Given the description of an element on the screen output the (x, y) to click on. 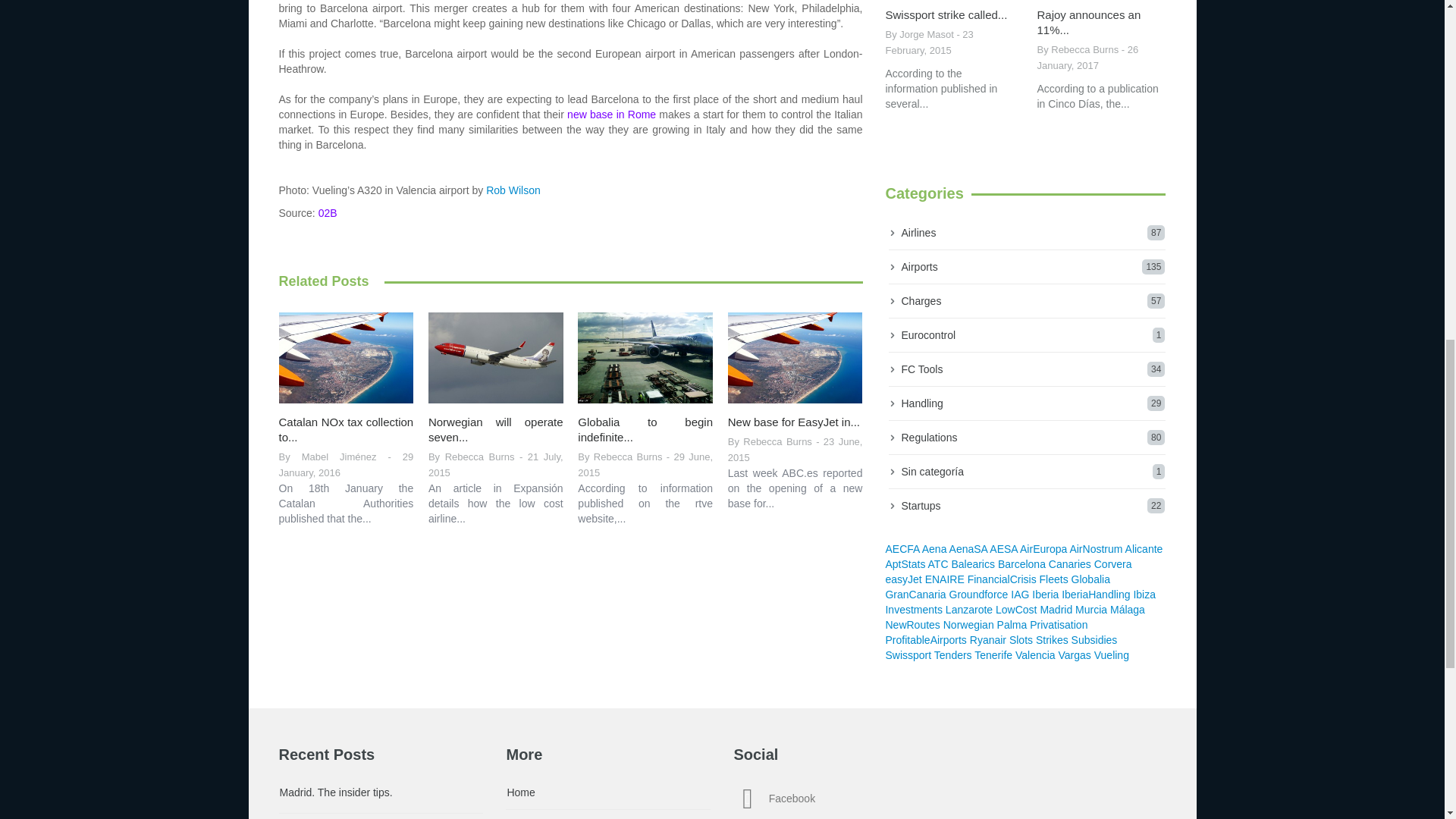
Permalink to Catalan NOx tax collection to commence (346, 357)
Rob Wilson (513, 190)
Catalan NOx tax collection to commence (346, 429)
